Given the description of an element on the screen output the (x, y) to click on. 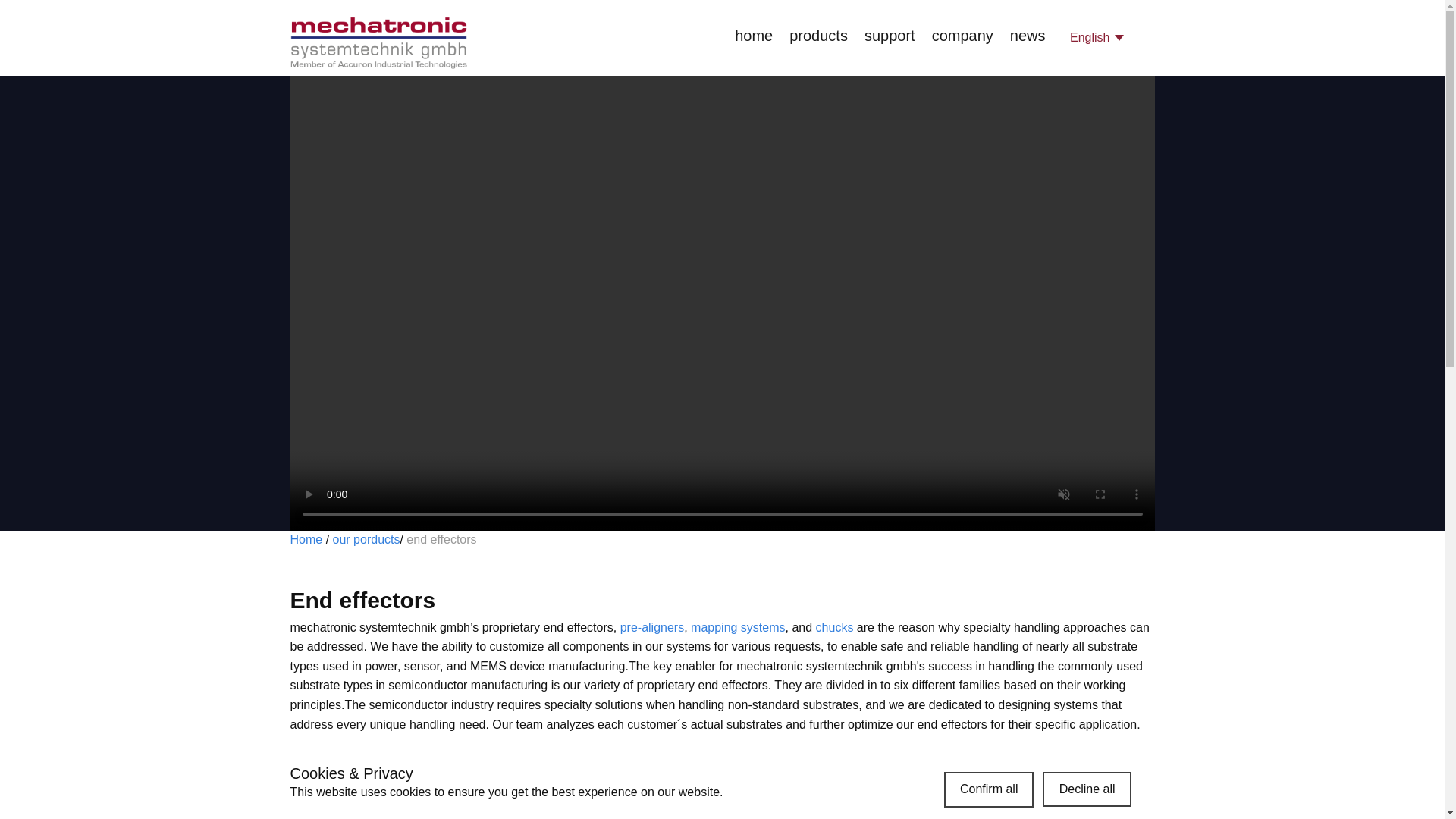
products (818, 36)
Home (377, 42)
Home (305, 539)
Confirm all (988, 789)
pre-aligners (652, 626)
news (1027, 36)
chucks (834, 626)
mapping systems (738, 626)
our porducts (366, 539)
support (889, 36)
Decline all (1087, 789)
company (961, 36)
home (754, 36)
